Given the description of an element on the screen output the (x, y) to click on. 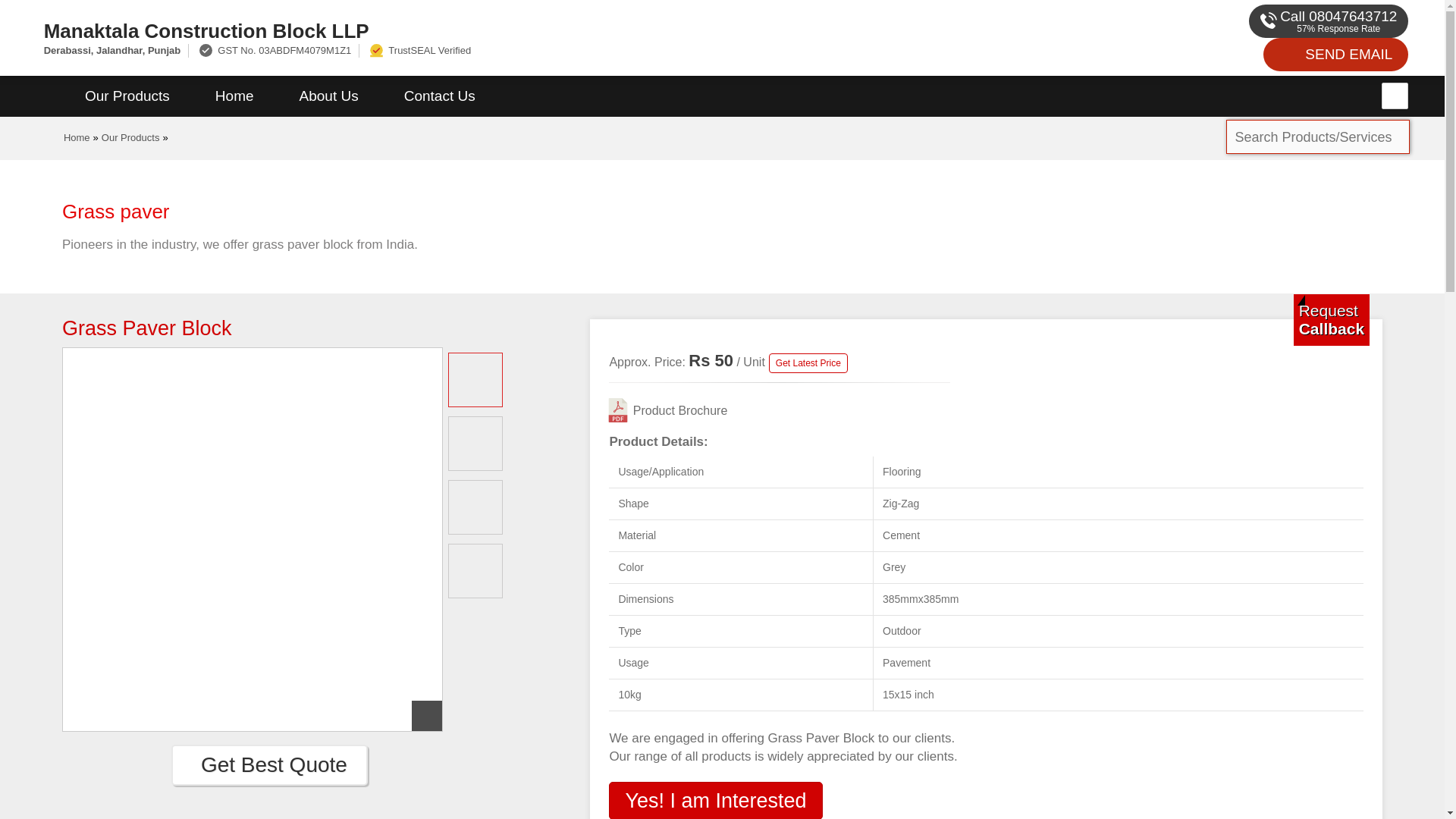
Contact Us (439, 96)
About Us (328, 96)
Our Products (127, 96)
Home (77, 137)
Manaktala Construction Block LLP (480, 31)
Get a Call from us (1332, 319)
Home (234, 96)
Our Products (130, 137)
